Given the description of an element on the screen output the (x, y) to click on. 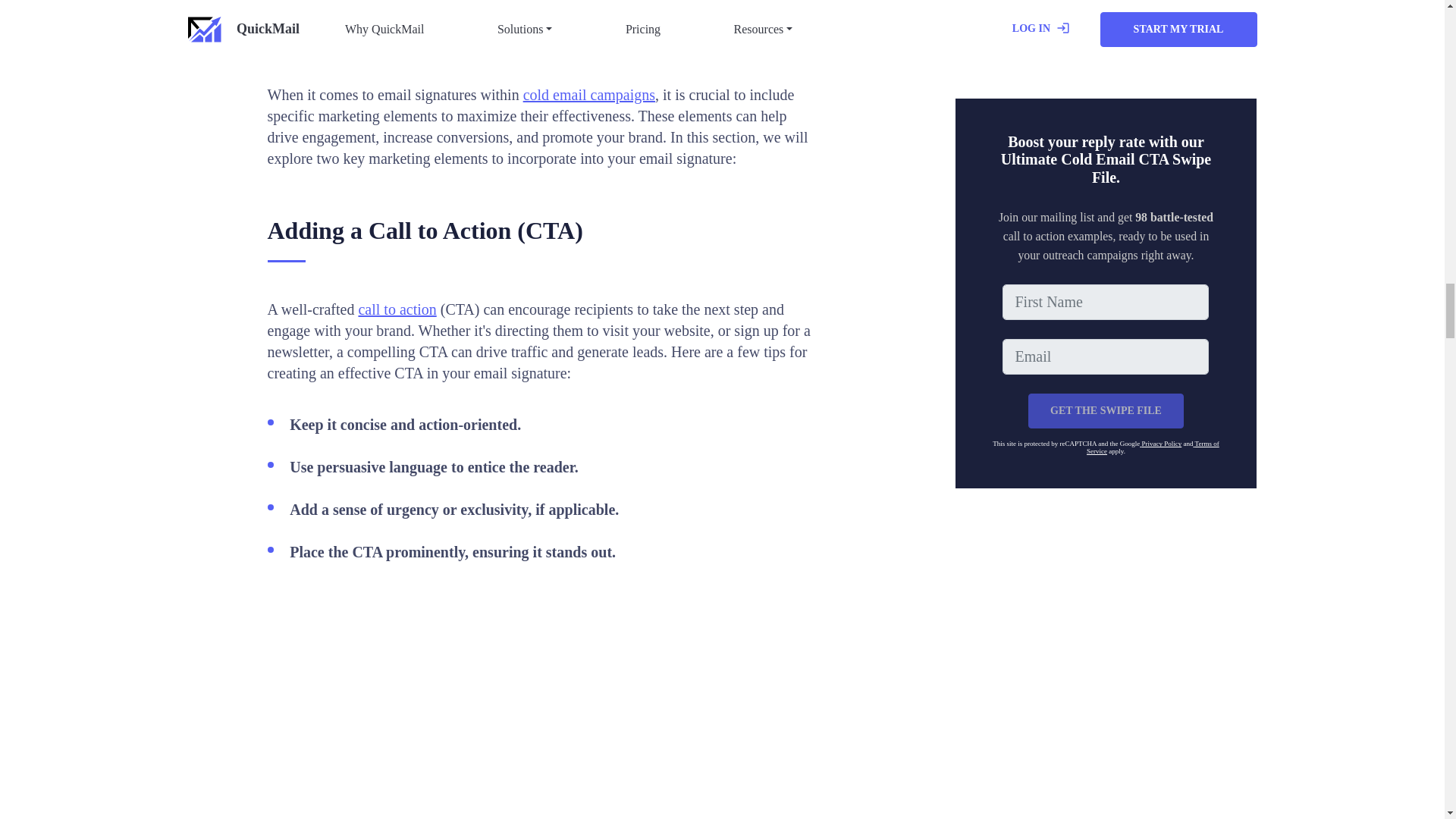
call to action (396, 309)
cold email campaigns (588, 94)
